Given the description of an element on the screen output the (x, y) to click on. 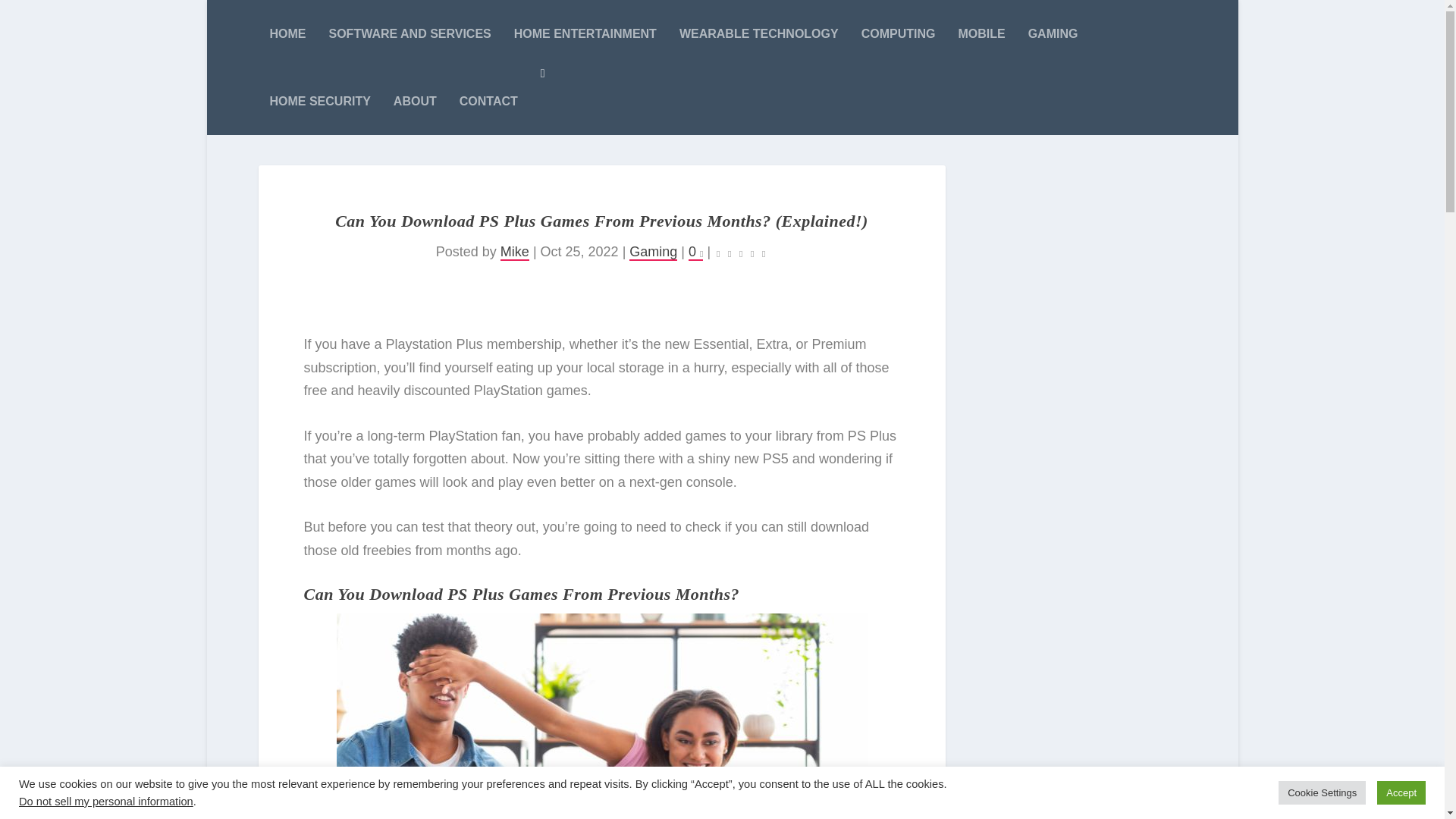
HOME ENTERTAINMENT (584, 33)
HOME (287, 33)
0 (695, 252)
ABOUT (414, 101)
Gaming (652, 252)
Posts by Mike (514, 252)
Mike (514, 252)
COMPUTING (898, 33)
MOBILE (981, 33)
comment count (701, 253)
HOME SECURITY (320, 101)
SOFTWARE AND SERVICES (410, 33)
WEARABLE TECHNOLOGY (758, 33)
Rating: 0.00 (740, 252)
CONTACT (489, 101)
